Given the description of an element on the screen output the (x, y) to click on. 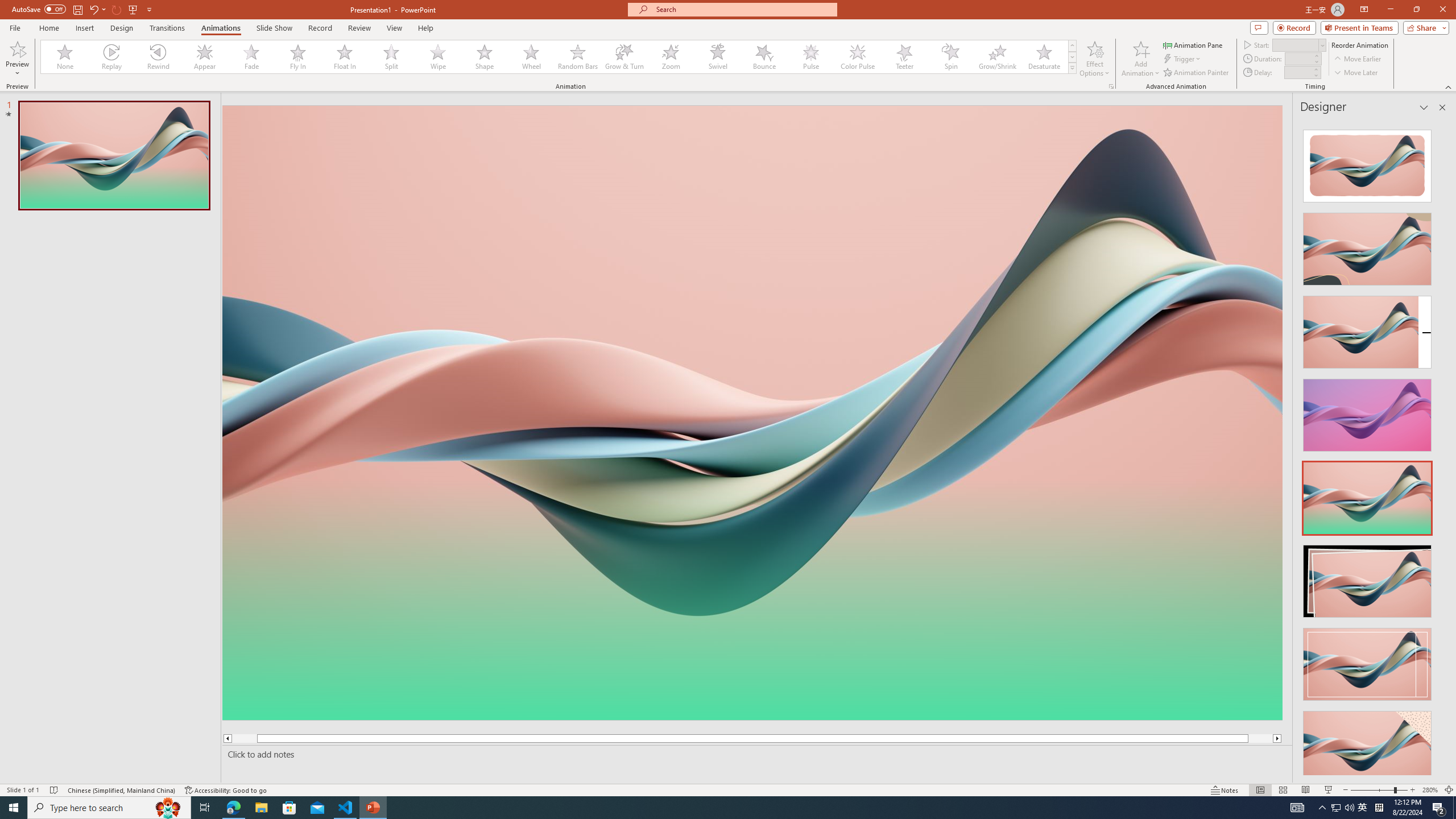
Fly In (298, 56)
Bounce (764, 56)
More Options... (1110, 85)
Move Later (1355, 72)
Animation Delay (1297, 72)
Class: NetUIScrollBar (1441, 447)
Decorative Locked (752, 579)
